Given the description of an element on the screen output the (x, y) to click on. 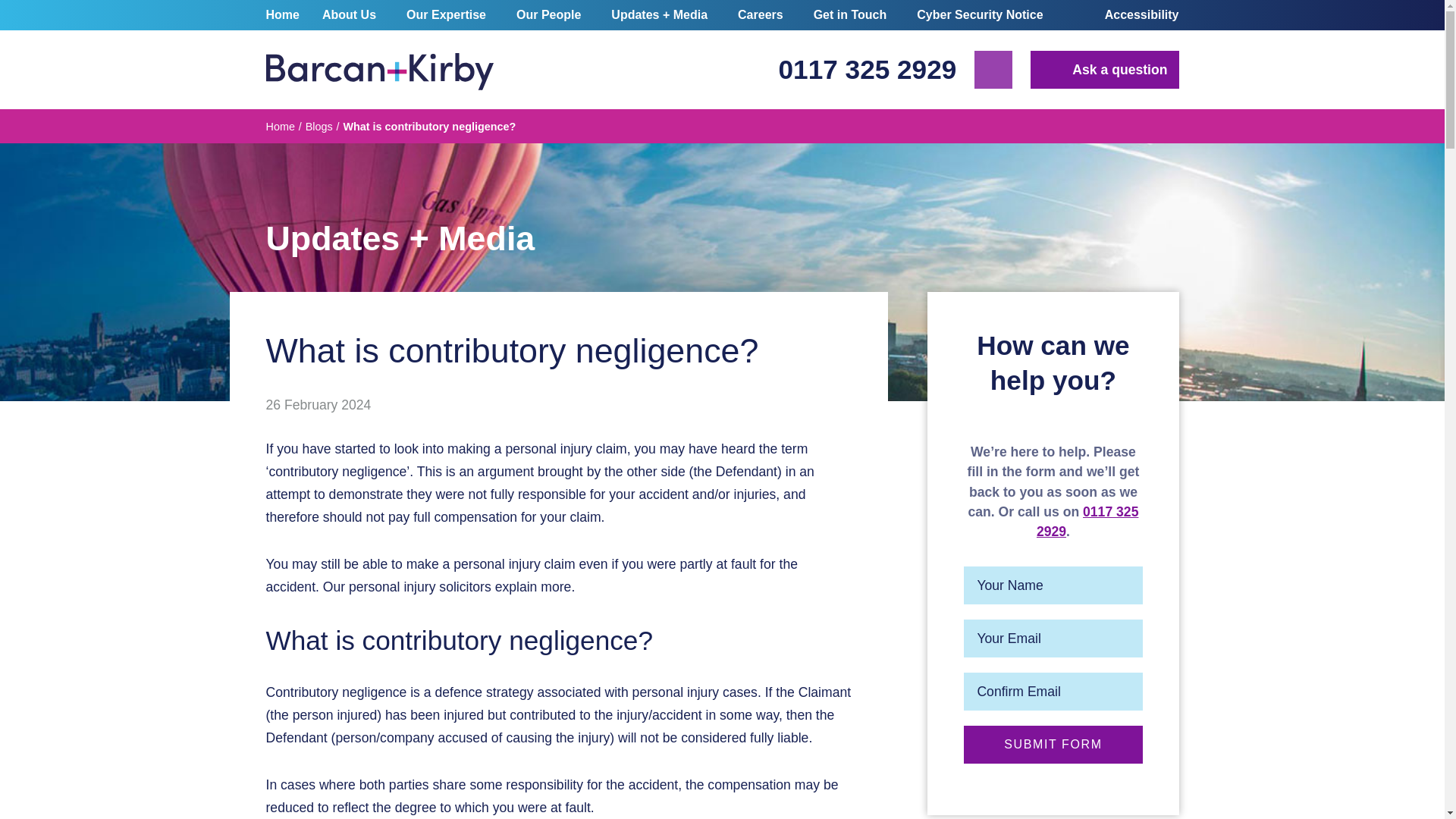
Submit form (1052, 744)
Careers (759, 15)
About Us (349, 15)
Our Expertise (445, 15)
Home (284, 15)
Our People (547, 15)
